Given the description of an element on the screen output the (x, y) to click on. 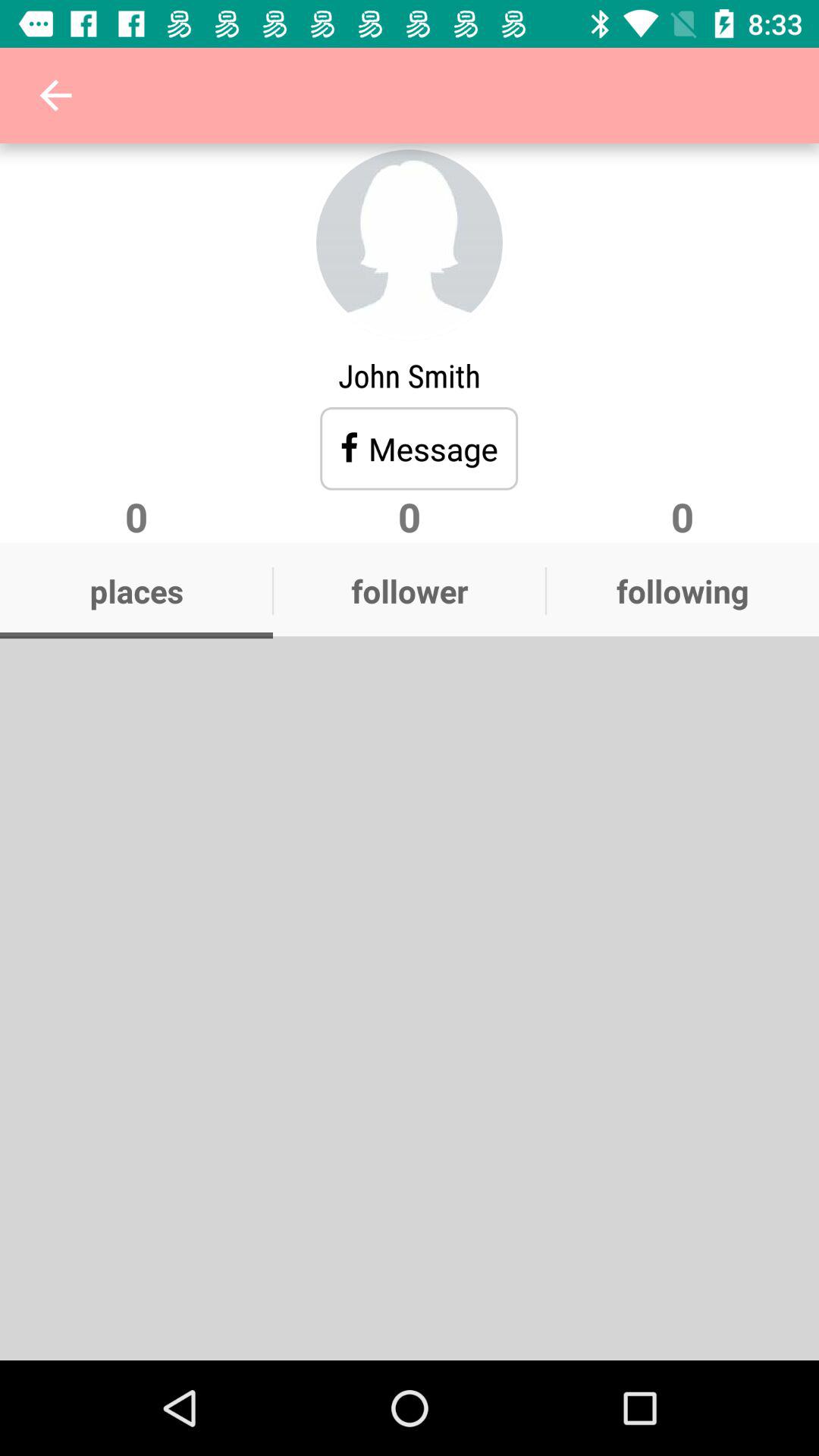
launch item below 0 (682, 590)
